Given the description of an element on the screen output the (x, y) to click on. 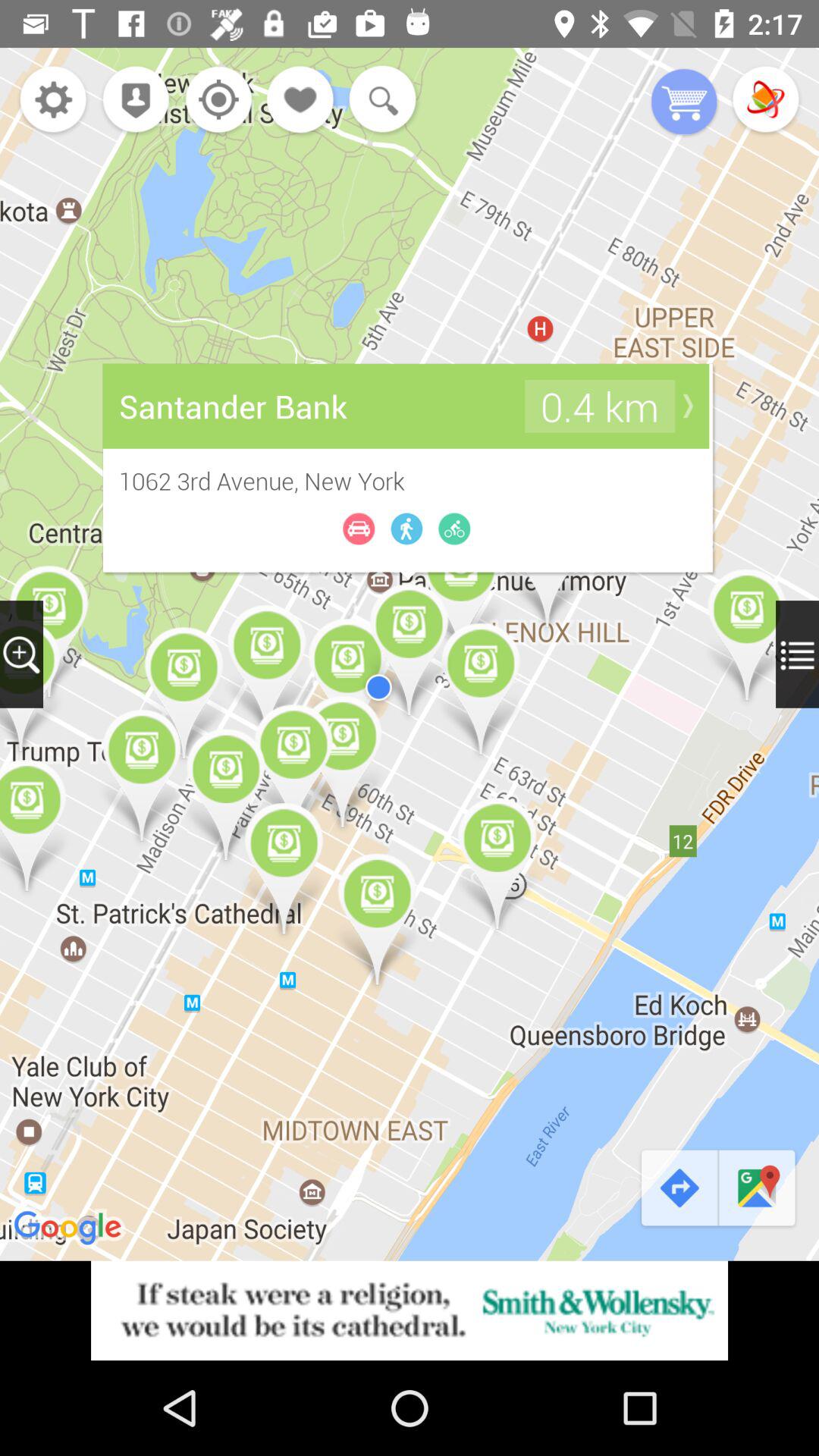
click on search option (379, 100)
